Given the description of an element on the screen output the (x, y) to click on. 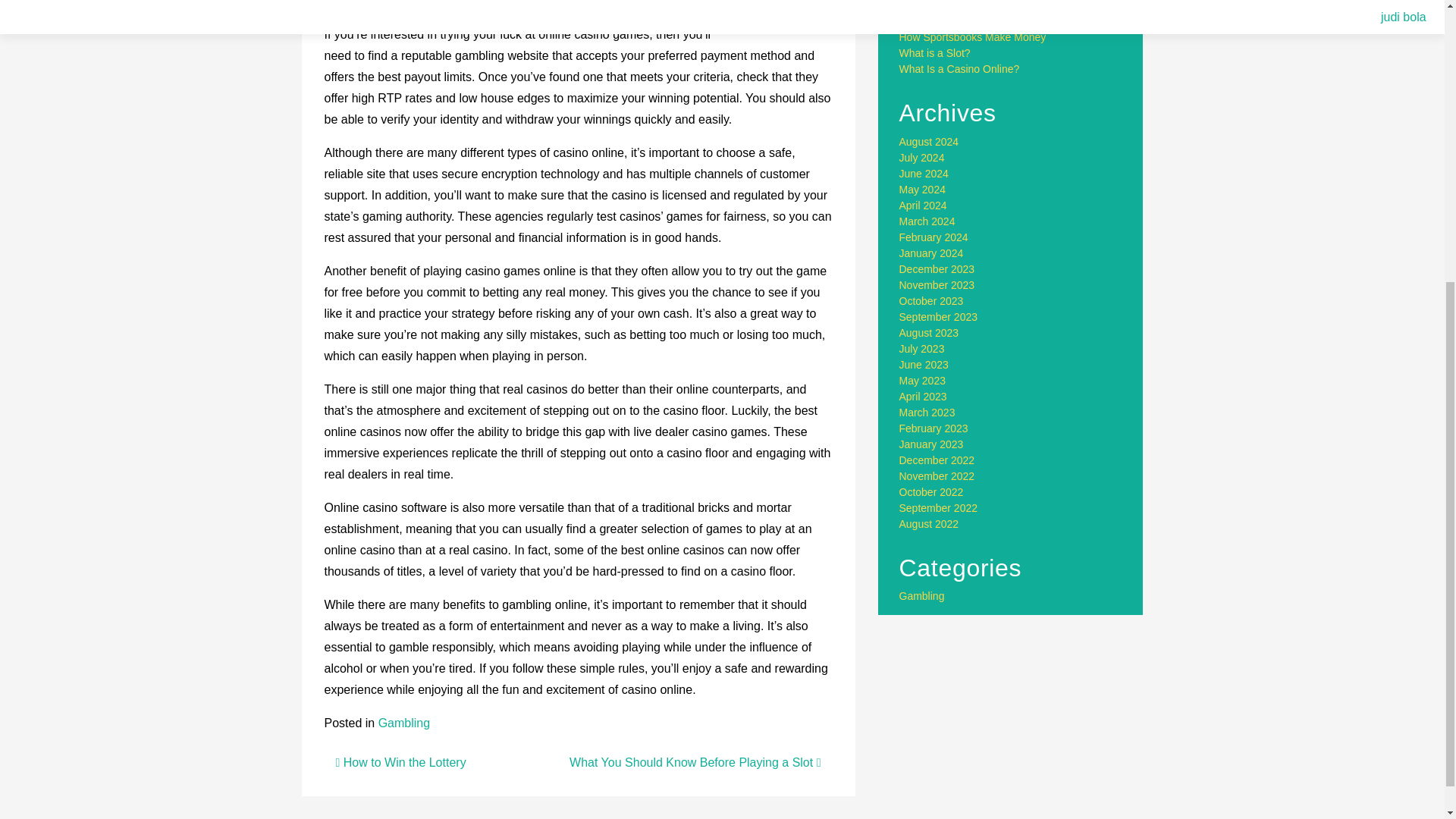
What You Should Know Before Playing a Slot  (695, 762)
April 2023 (923, 396)
December 2022 (937, 460)
August 2022 (929, 523)
Developing a Poker Strategy (966, 21)
The History of the Lottery (958, 5)
August 2024 (929, 141)
What Is a Casino Online? (959, 69)
July 2024 (921, 157)
July 2023 (921, 348)
